Given the description of an element on the screen output the (x, y) to click on. 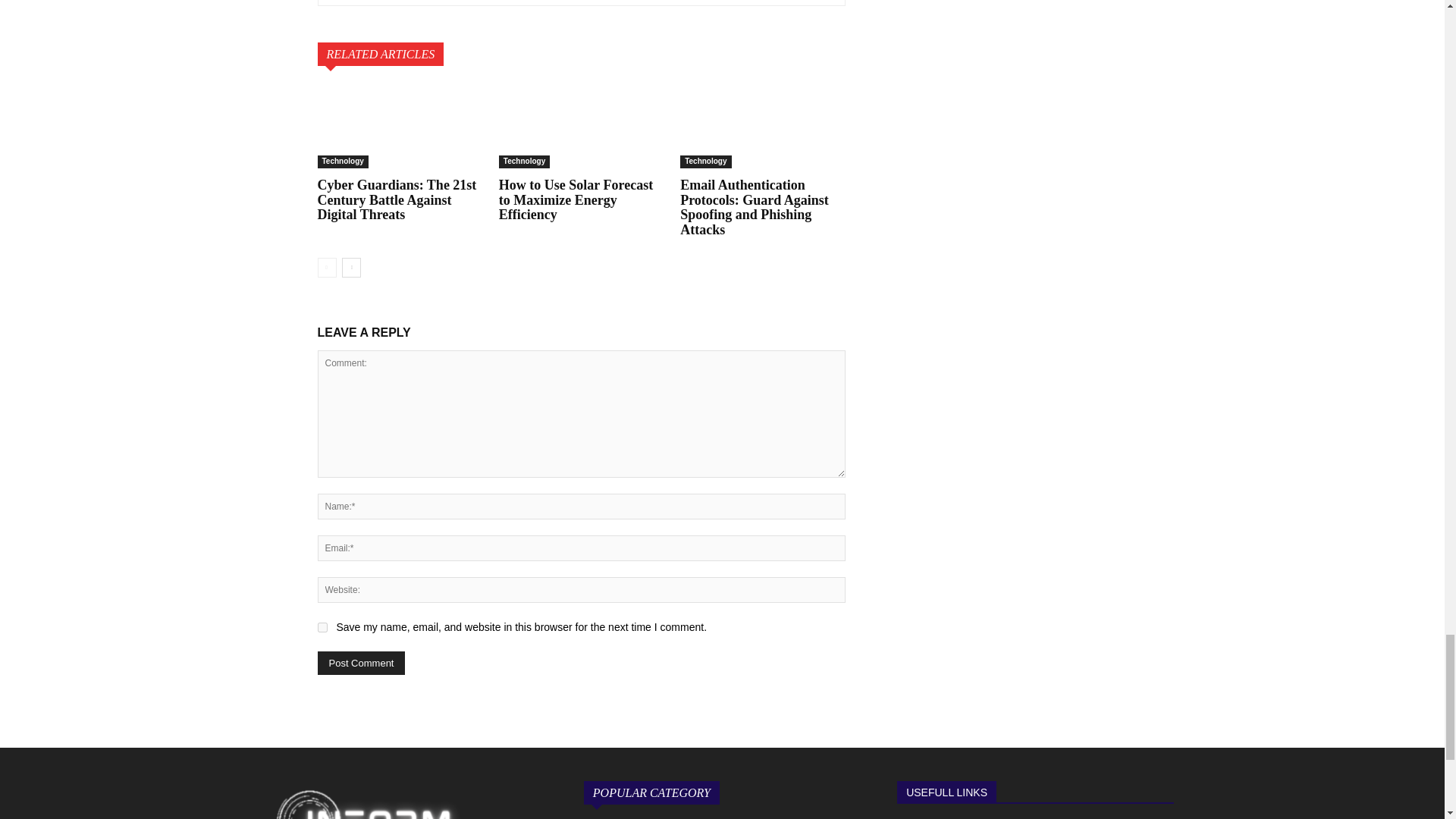
yes (321, 627)
Post Comment (360, 662)
